Given the description of an element on the screen output the (x, y) to click on. 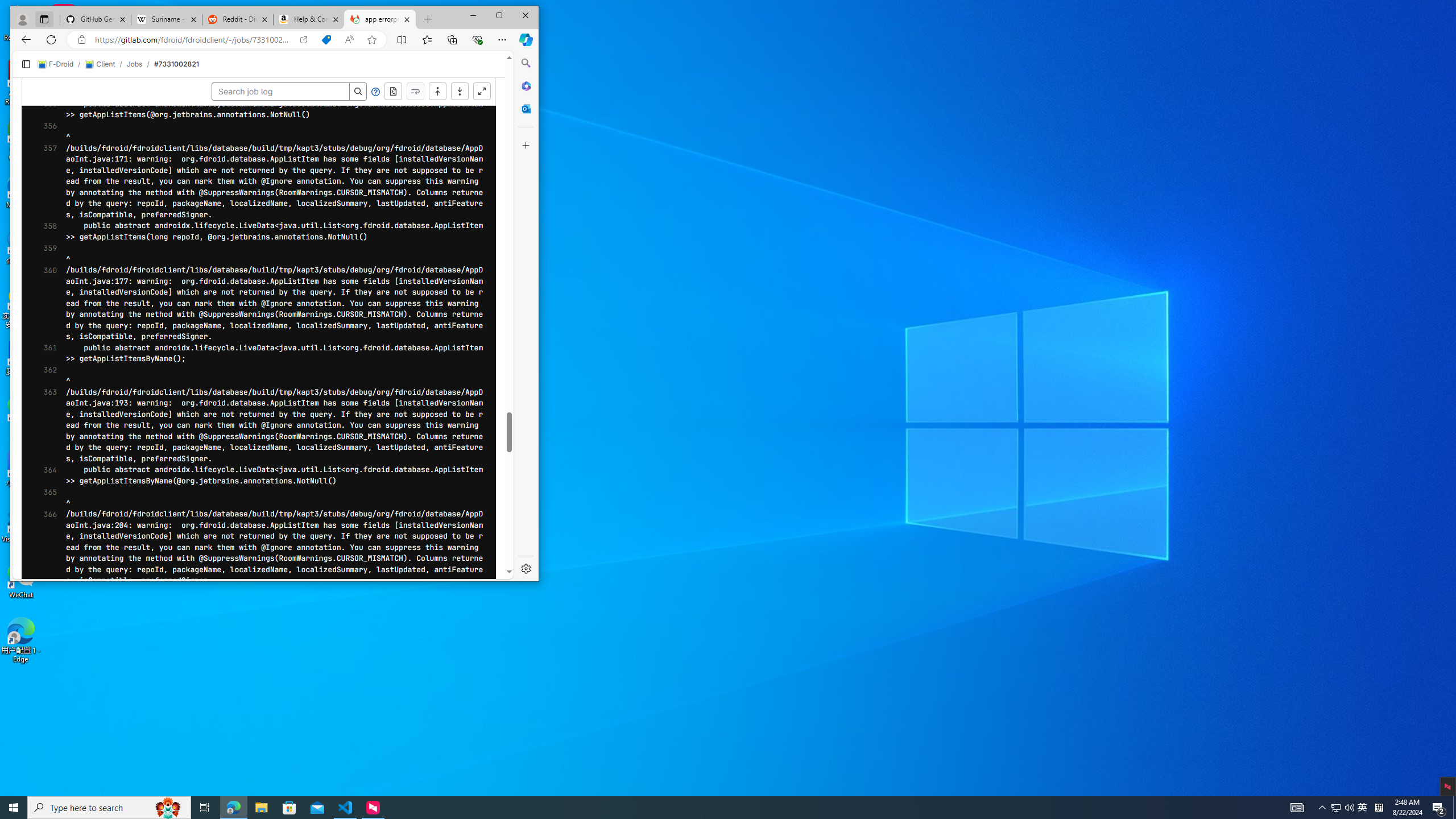
Action Center, 2 new notifications (1439, 807)
Tray Input Indicator - Chinese (Simplified, China) (1362, 807)
Start (1378, 807)
File Explorer (13, 807)
Show complete raw (261, 807)
355 (392, 91)
